Given the description of an element on the screen output the (x, y) to click on. 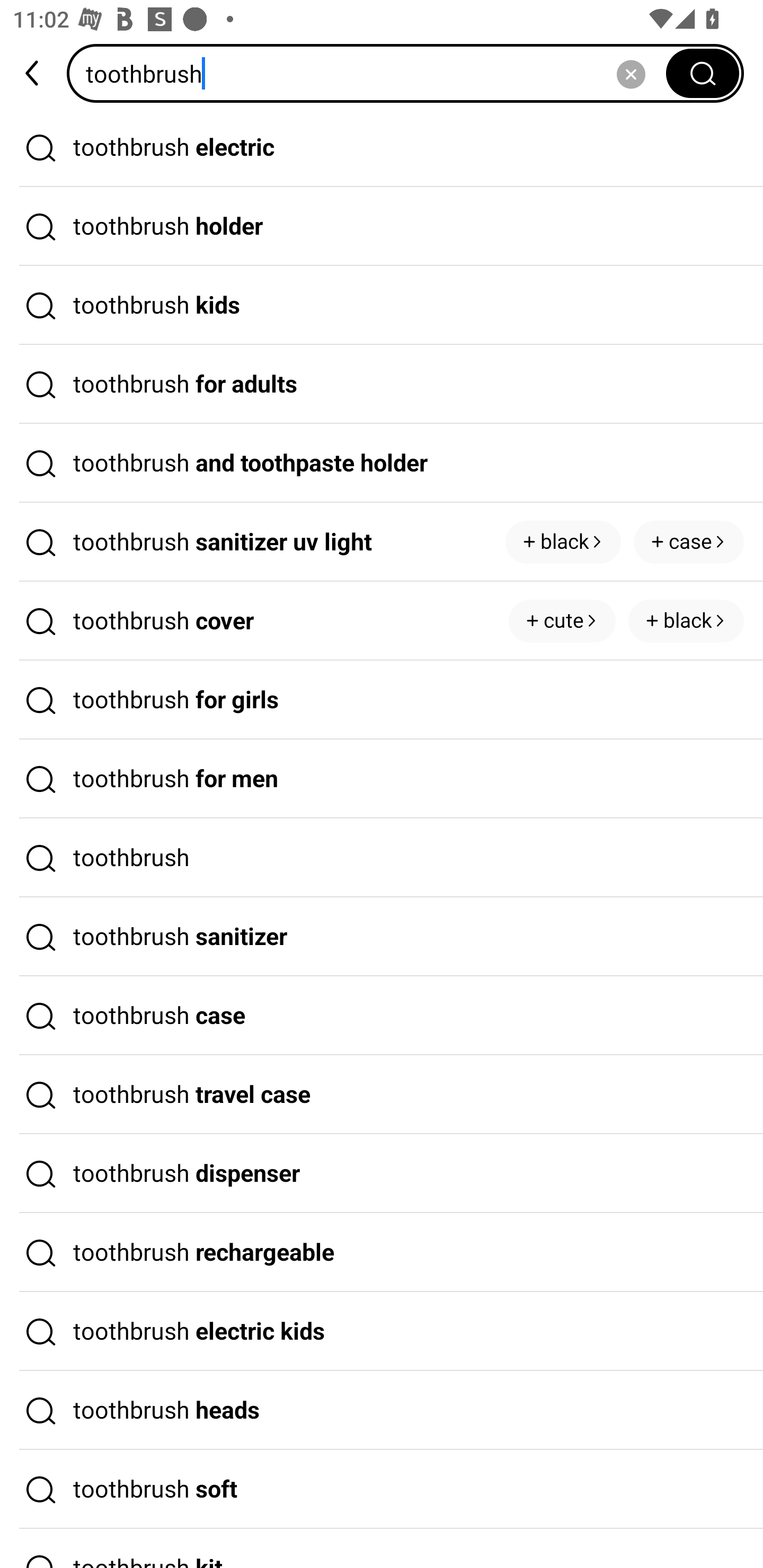
back (33, 72)
toothbrush (372, 73)
Delete search history (630, 73)
toothbrush electric (381, 147)
toothbrush holder (381, 226)
toothbrush kids (381, 305)
toothbrush for adults (381, 383)
toothbrush and toothpaste holder (381, 463)
toothbrush sanitizer uv light black case (381, 542)
black (563, 541)
case (688, 541)
toothbrush cover cute black (381, 620)
cute (561, 620)
black (685, 620)
toothbrush for girls (381, 700)
toothbrush for men (381, 779)
toothbrush (381, 857)
toothbrush sanitizer (381, 936)
toothbrush case (381, 1015)
toothbrush travel case (381, 1094)
toothbrush dispenser (381, 1173)
toothbrush rechargeable (381, 1252)
toothbrush electric kids (381, 1331)
toothbrush heads (381, 1410)
toothbrush soft (381, 1489)
